Given the description of an element on the screen output the (x, y) to click on. 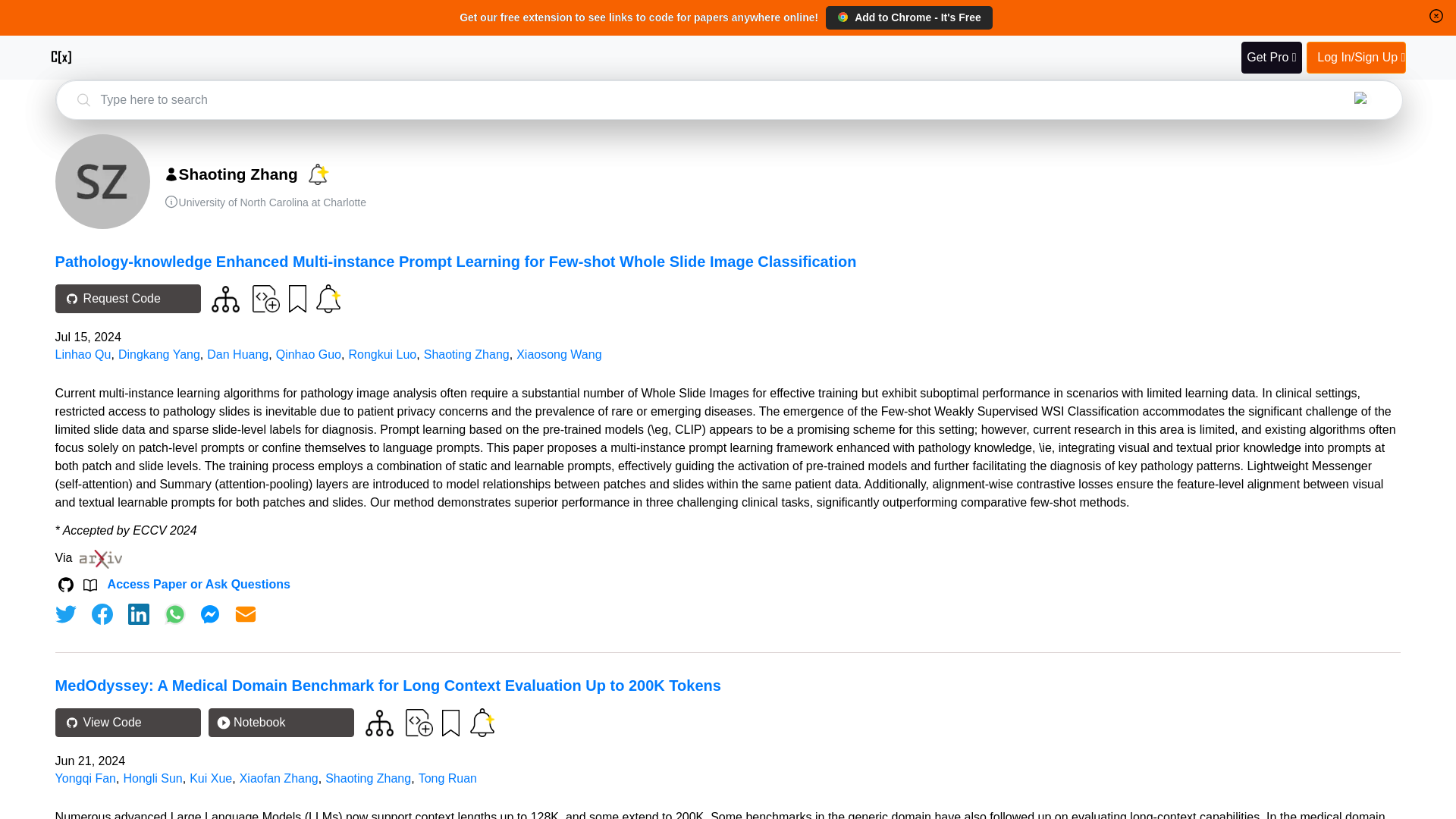
Dan Huang (236, 354)
Request Code (127, 298)
View code for similar papers (379, 723)
Add to Chrome - It's Free (908, 17)
Notebook (280, 722)
Shaoting Zhang (466, 354)
Share via Email (245, 613)
Contribute your code for this paper to the community (265, 298)
Send via Messenger (209, 613)
Bookmark this paper (449, 722)
Access Paper or Ask Questions (198, 584)
Shaoting Zhang (367, 778)
Hongli Sun (152, 778)
Yongqi Fan (85, 778)
Linhao Qu (83, 354)
